Given the description of an element on the screen output the (x, y) to click on. 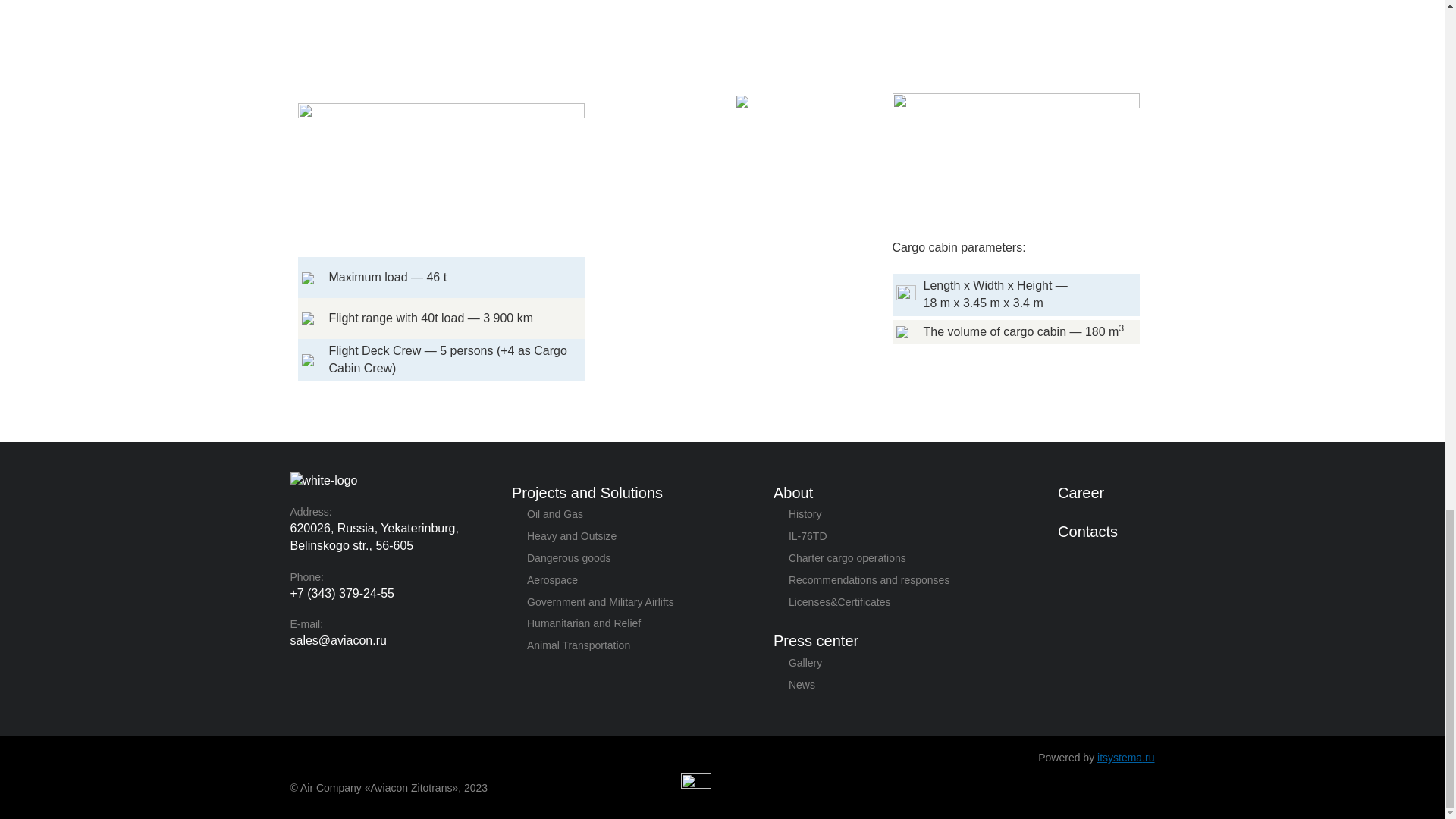
Dangerous goods (569, 558)
Oil and Gas (555, 513)
Projects and Solutions (587, 492)
Government and Military Airlifts (600, 602)
Aerospace (552, 580)
Heavy and Outsize (571, 535)
Humanitarian and Relief (583, 623)
